Given the description of an element on the screen output the (x, y) to click on. 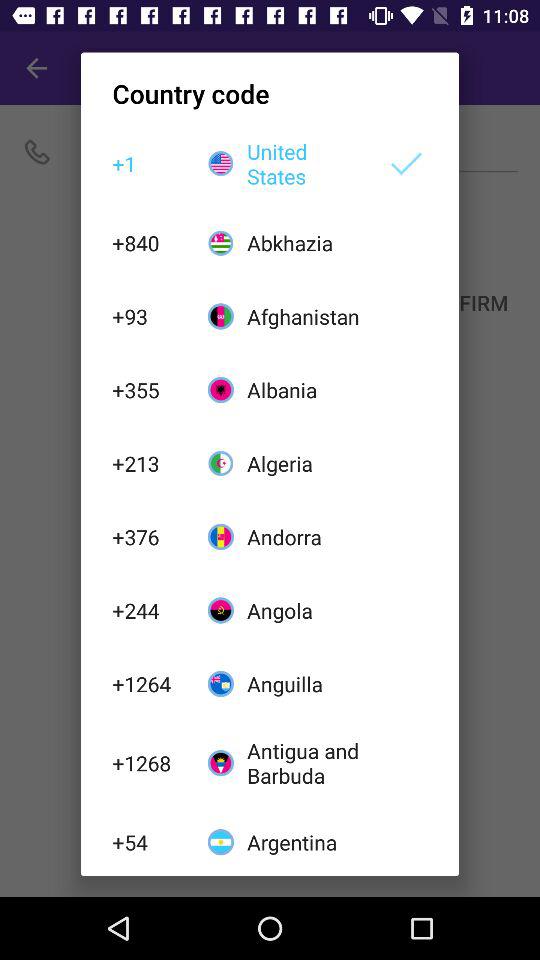
turn on item below the abkhazia icon (305, 316)
